Given the description of an element on the screen output the (x, y) to click on. 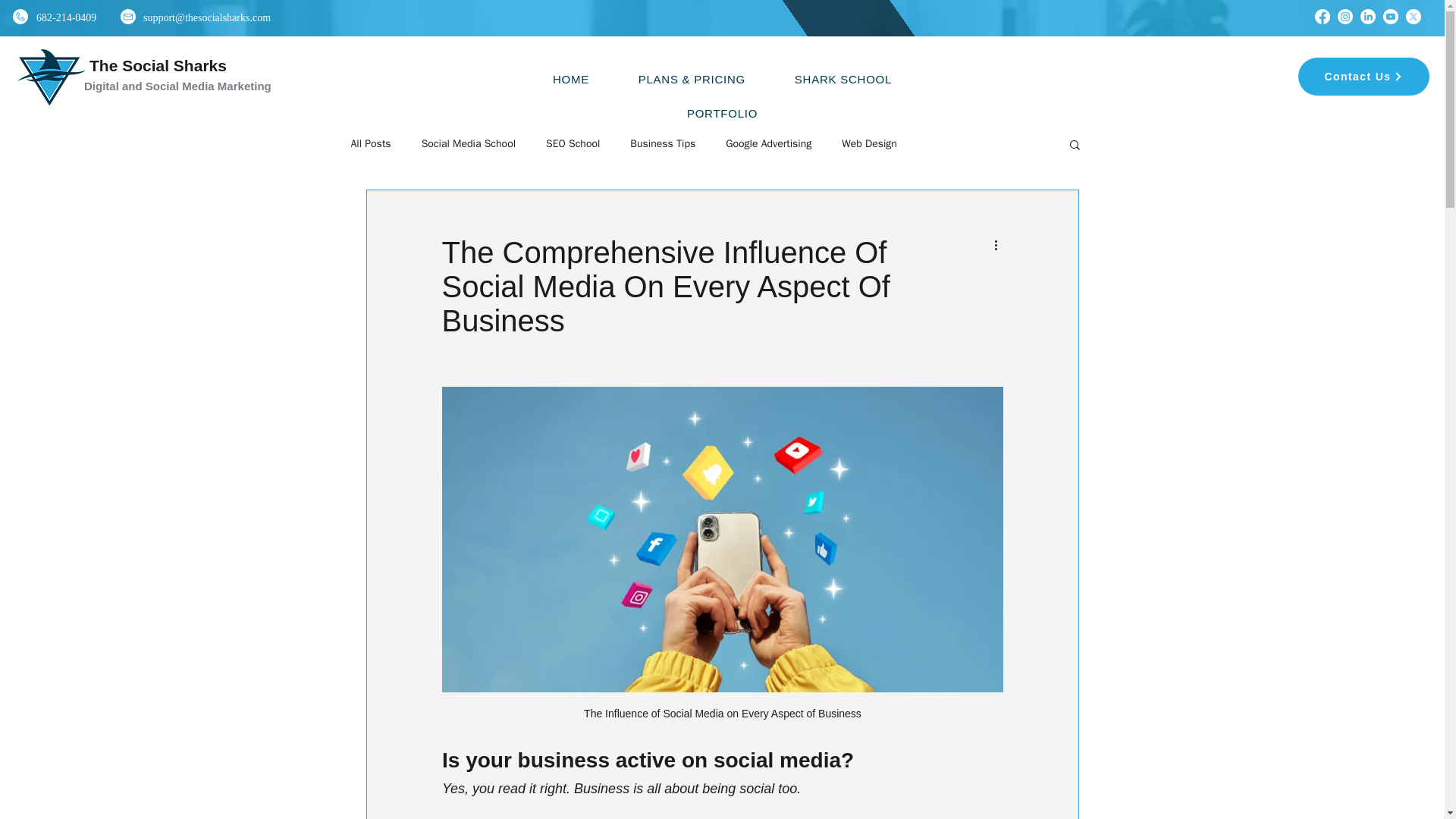
SEO School (572, 143)
Social Media School (468, 143)
Business Tips (662, 143)
HOME (570, 79)
Digital and Social Media Marketing (177, 85)
Web Design (868, 143)
The Social Sharks (157, 65)
Contact Us (1363, 76)
682-214-0409 (66, 17)
SHARK SCHOOL (842, 79)
All Posts (370, 143)
PORTFOLIO (721, 113)
Google Advertising (767, 143)
